Given the description of an element on the screen output the (x, y) to click on. 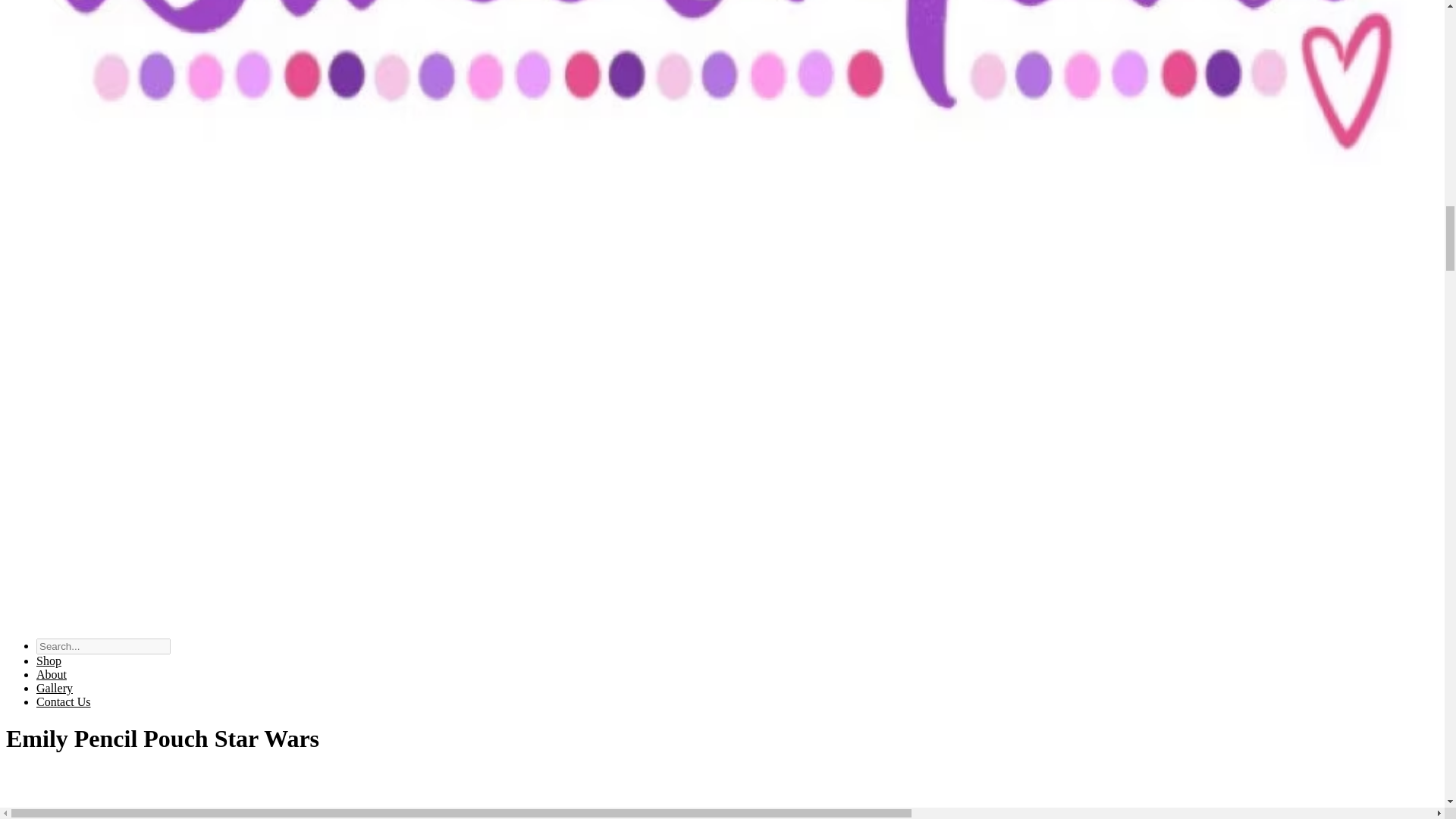
About (51, 674)
Gallery (54, 687)
Shop (48, 660)
Contact Us (63, 701)
